Given the description of an element on the screen output the (x, y) to click on. 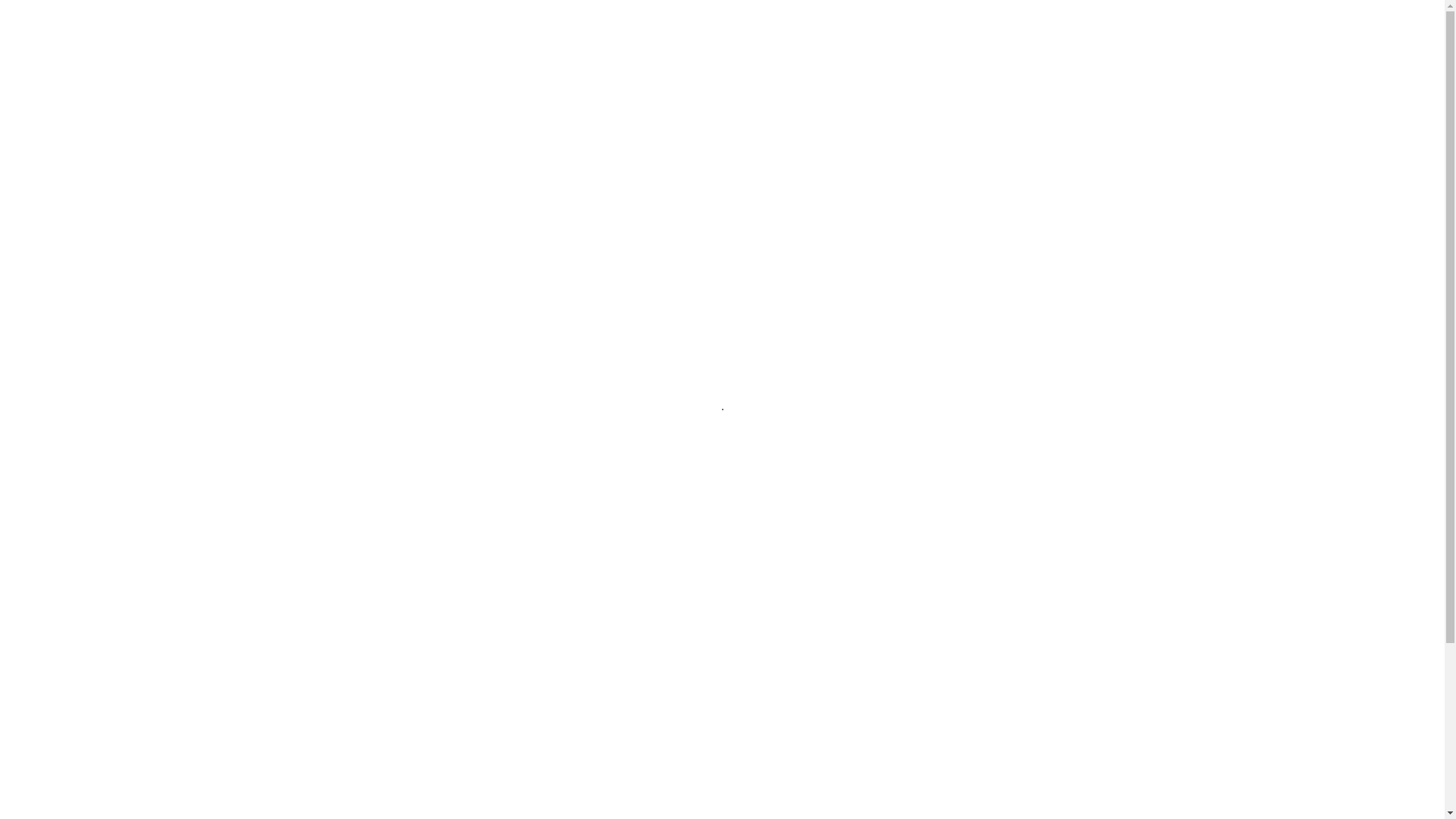
Contact Element type: text (1157, 33)
Akkoord Element type: text (1398, 792)
Kalender Element type: text (837, 33)
Media Element type: text (777, 33)
Centrumharmonie Geel Element type: text (460, 17)
Nieuwsbrieven Element type: text (1006, 33)
Instellingen Element type: text (1331, 792)
Do not sell my personal information Element type: text (105, 801)
Steun ons Element type: text (914, 33)
Orkesten Element type: text (710, 33)
Sponsors Element type: text (1090, 33)
